Given the description of an element on the screen output the (x, y) to click on. 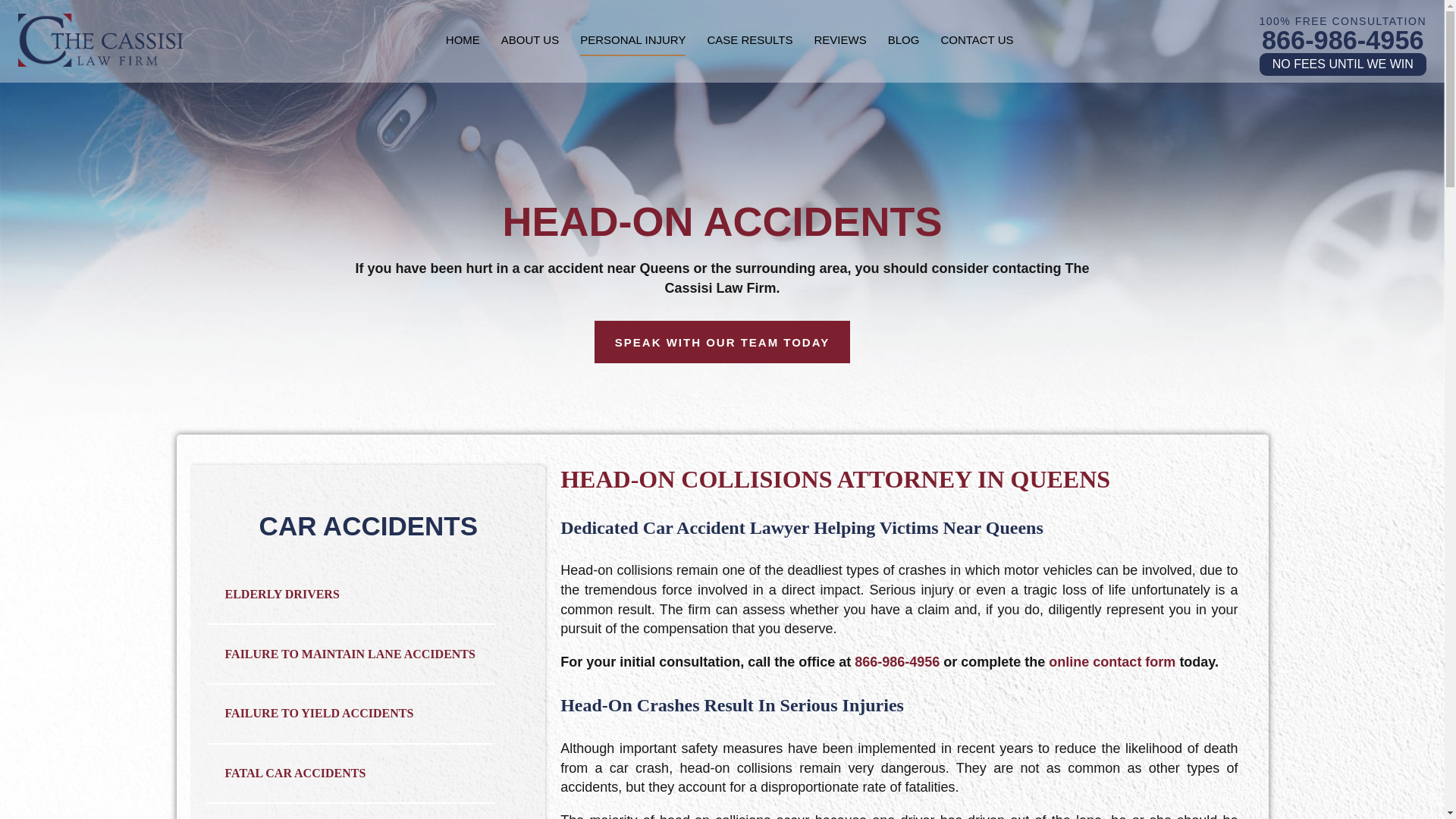
ABOUT US (529, 39)
PERSONAL INJURY (632, 39)
SPEAK WITH OUR TEAM TODAY (721, 342)
NO FEES UNTIL WE WIN (1342, 63)
866-986-4956 (1342, 39)
CAR ACCIDENTS (368, 525)
